Given the description of an element on the screen output the (x, y) to click on. 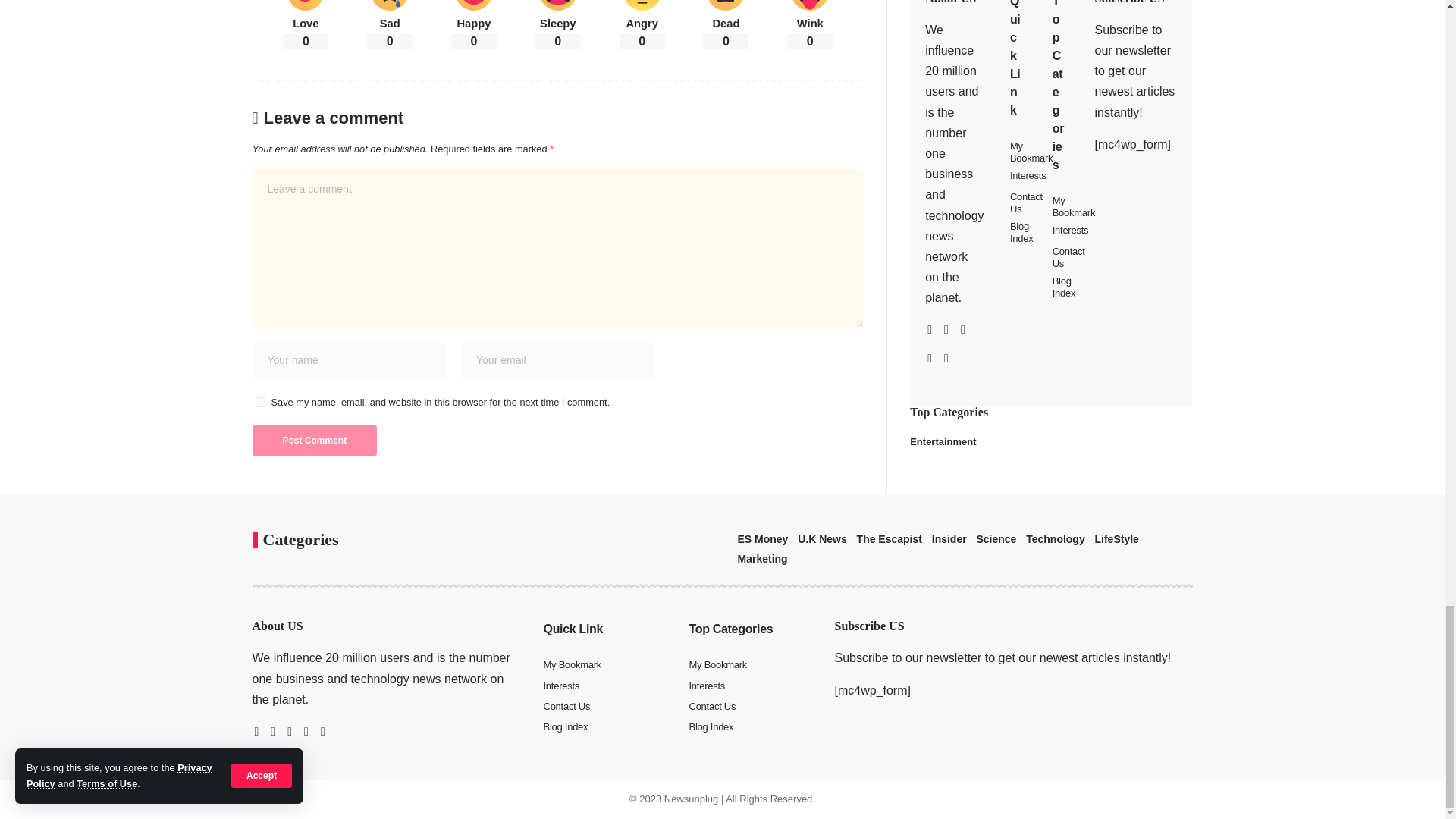
Post Comment (314, 440)
yes (259, 402)
